Given the description of an element on the screen output the (x, y) to click on. 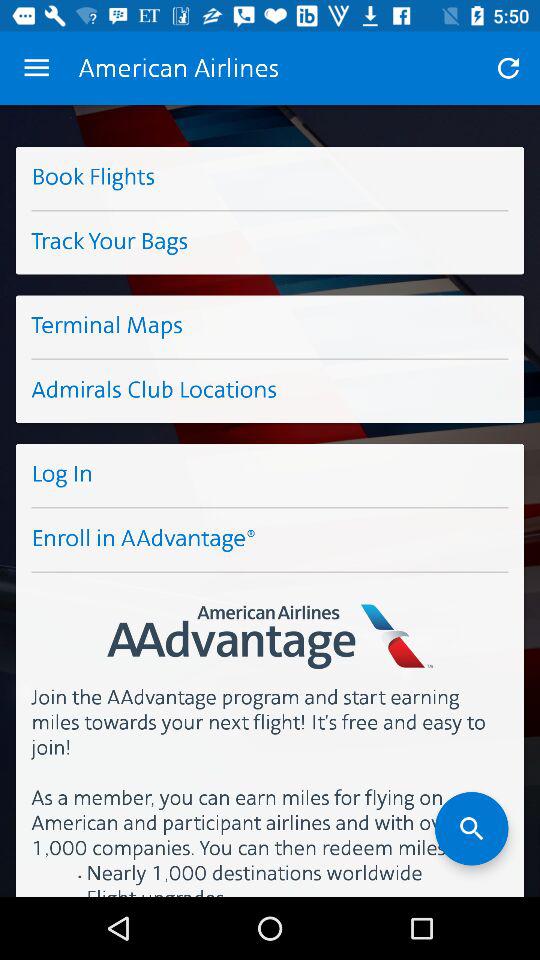
jump to the track your bags icon (269, 242)
